Given the description of an element on the screen output the (x, y) to click on. 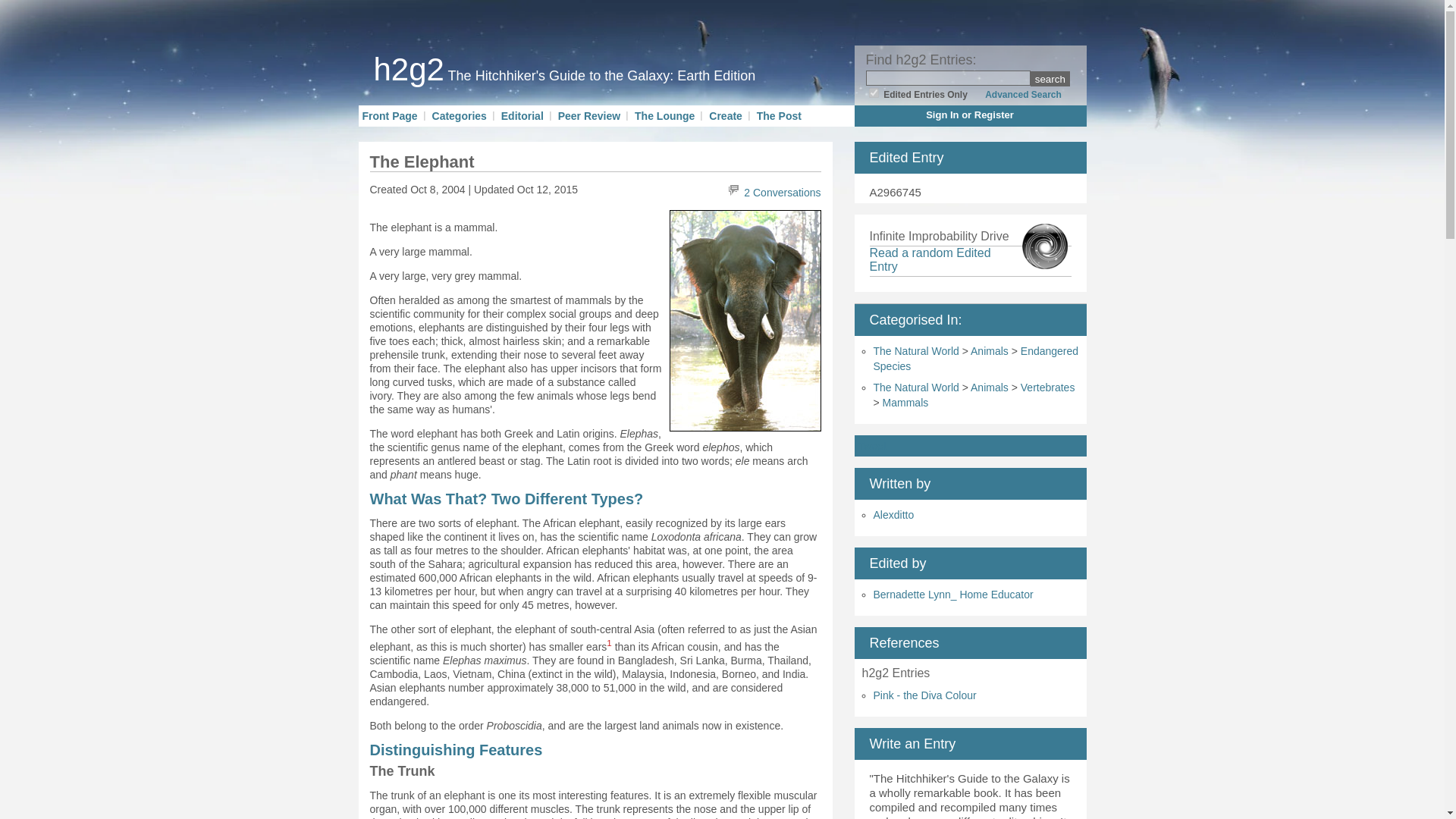
search (1050, 78)
Vertebrates (1047, 387)
The Post (779, 115)
Animals (990, 387)
Peer Review (589, 115)
Sign In or Register (970, 114)
1 (874, 92)
Editorial (521, 115)
Animals (990, 350)
Pink - the Diva Colour (924, 695)
